Given the description of an element on the screen output the (x, y) to click on. 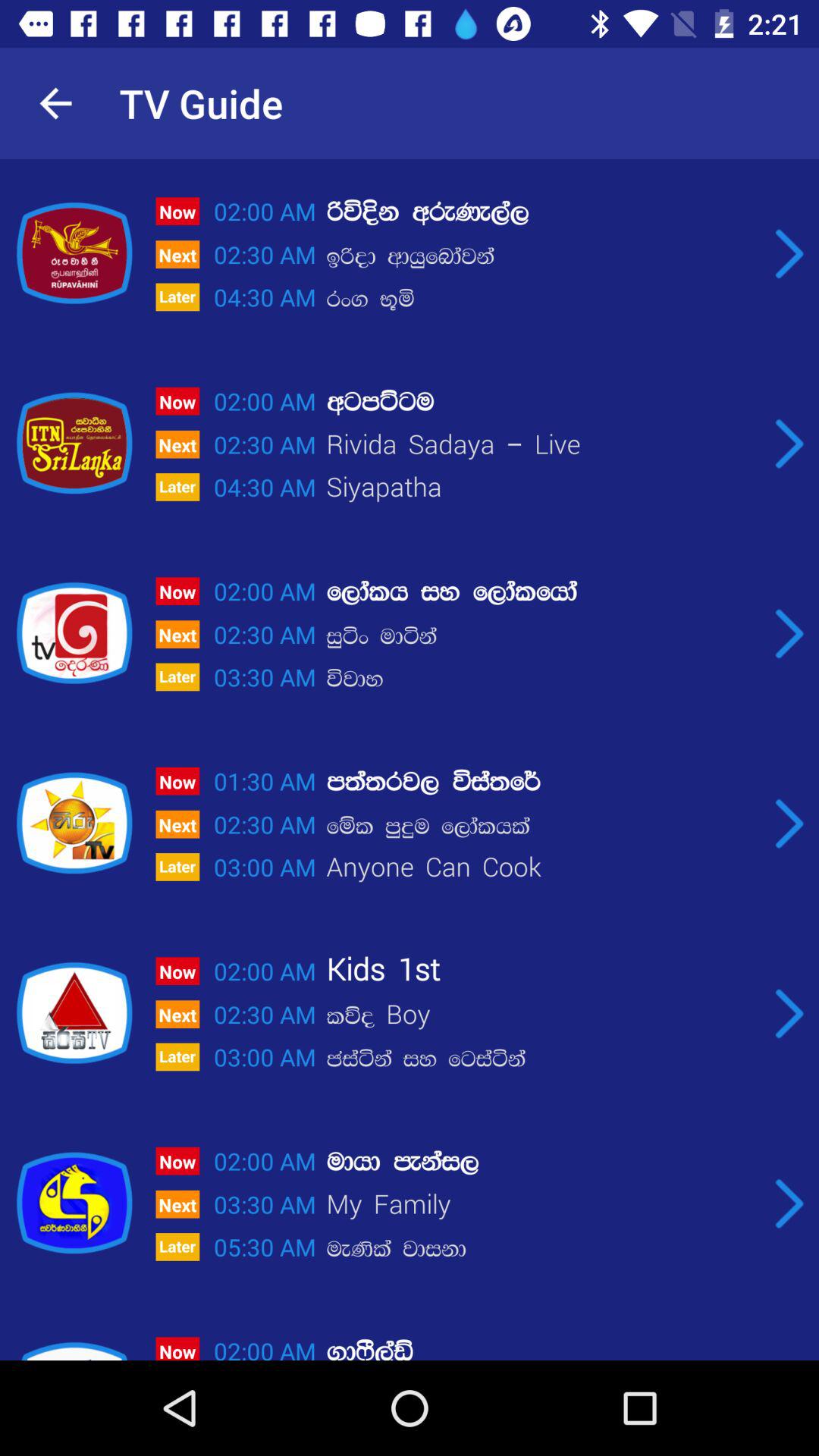
launch icon to the right of 02:00 am item (542, 401)
